Given the description of an element on the screen output the (x, y) to click on. 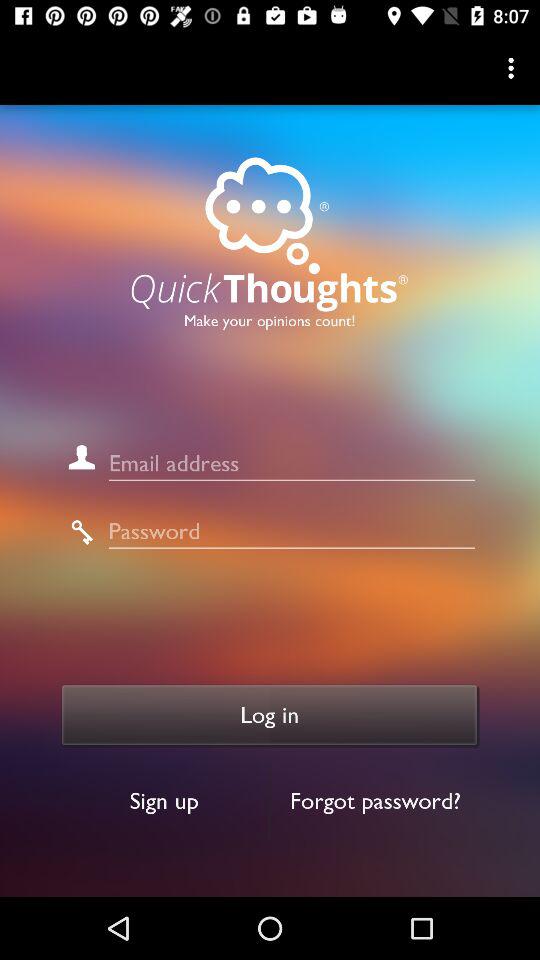
flip to log in (270, 715)
